Given the description of an element on the screen output the (x, y) to click on. 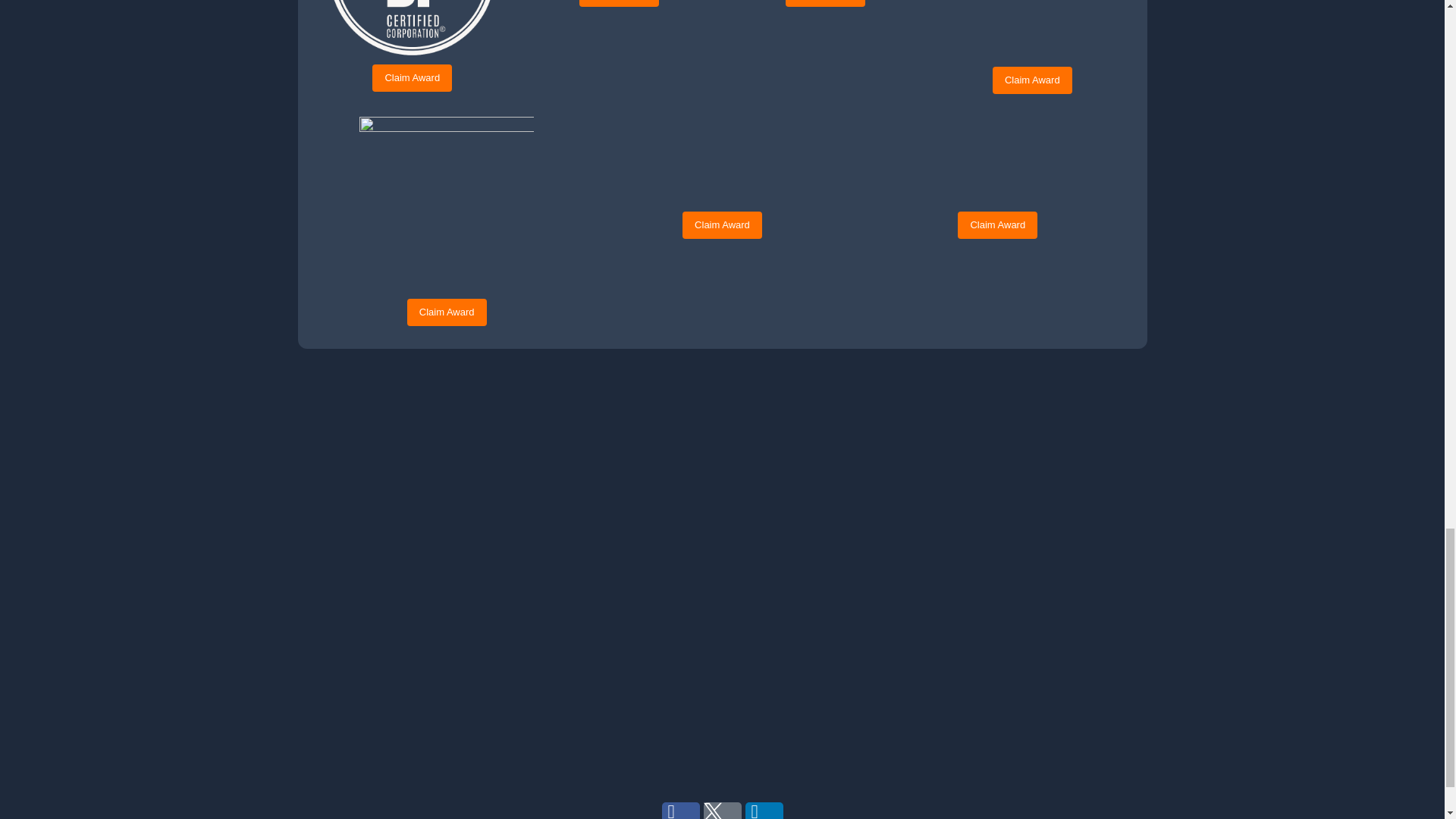
Claim Award (619, 3)
Claim Award (825, 3)
Claim Award (411, 77)
Claim Award (1031, 80)
